Given the description of an element on the screen output the (x, y) to click on. 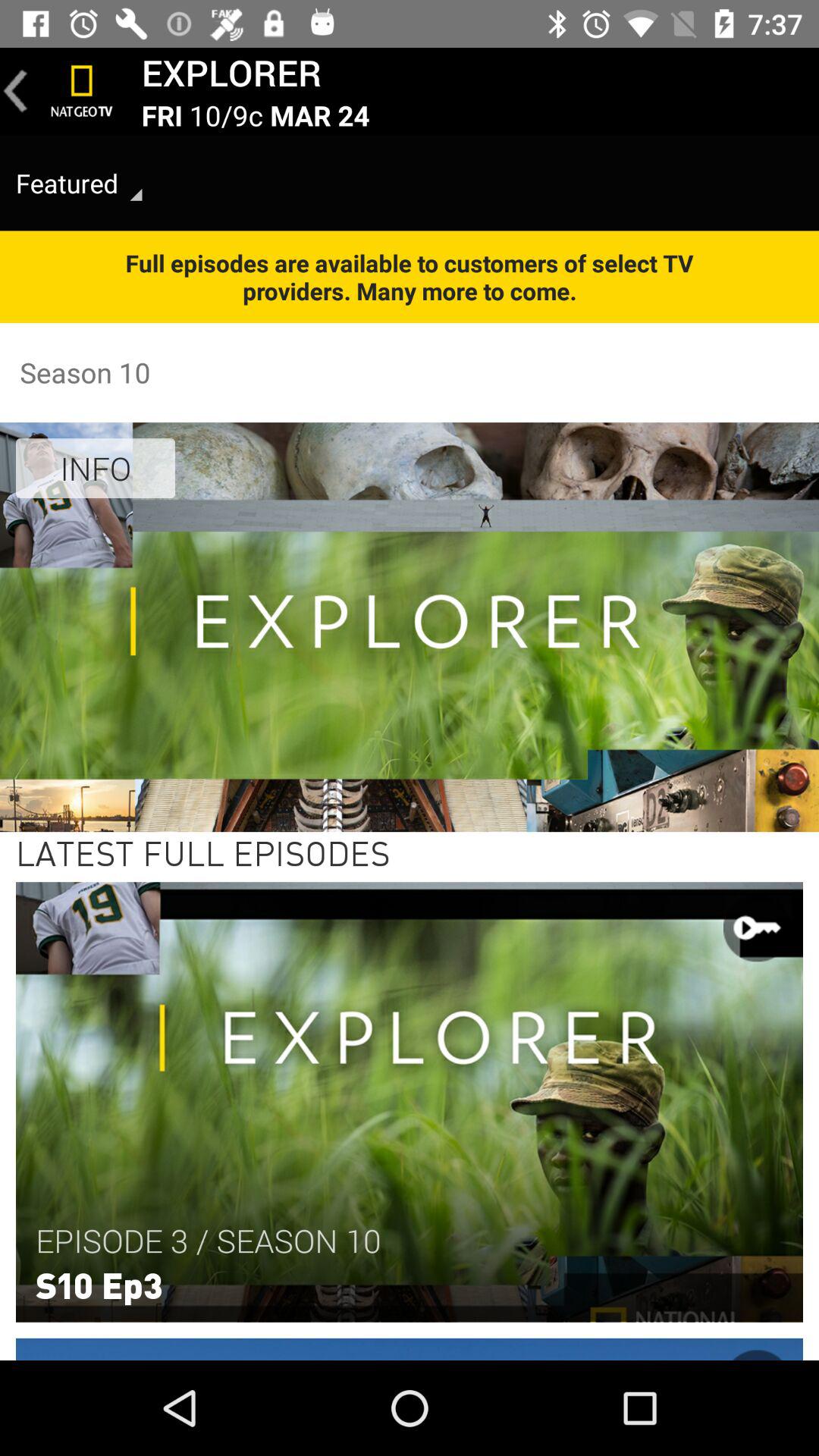
select tv channel button (81, 90)
